Given the description of an element on the screen output the (x, y) to click on. 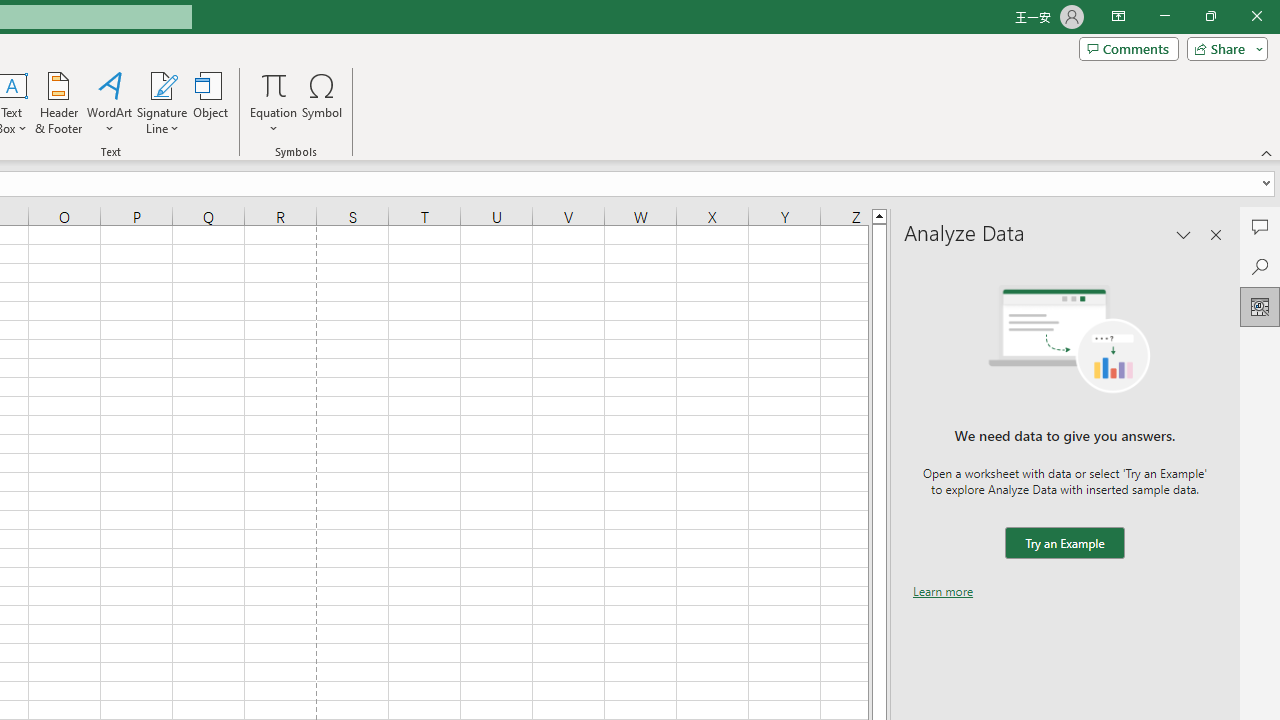
Equation (273, 102)
We need data to give you answers. Try an Example (1064, 543)
Signature Line (161, 102)
Header & Footer... (58, 102)
Learn more (943, 591)
Symbol... (322, 102)
Equation (273, 84)
